Given the description of an element on the screen output the (x, y) to click on. 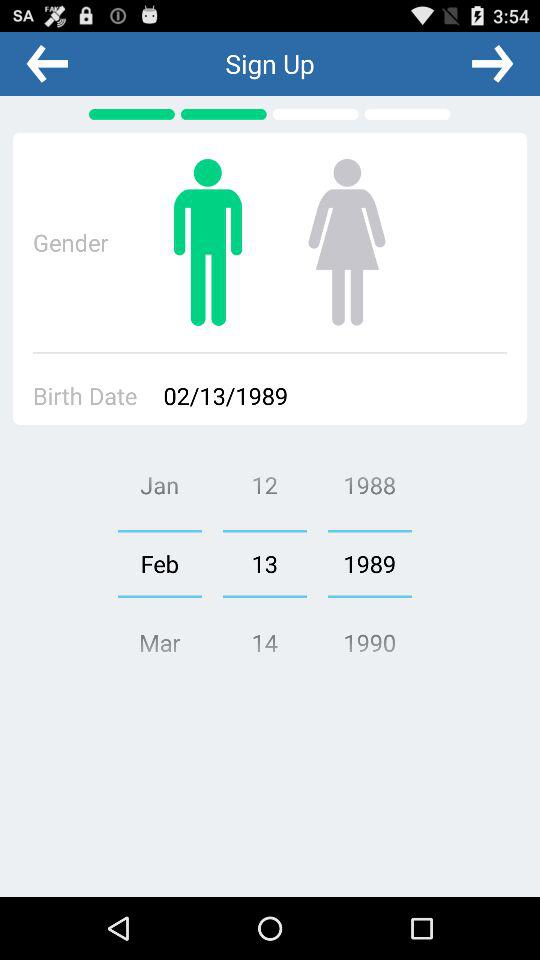
next page (492, 63)
